Given the description of an element on the screen output the (x, y) to click on. 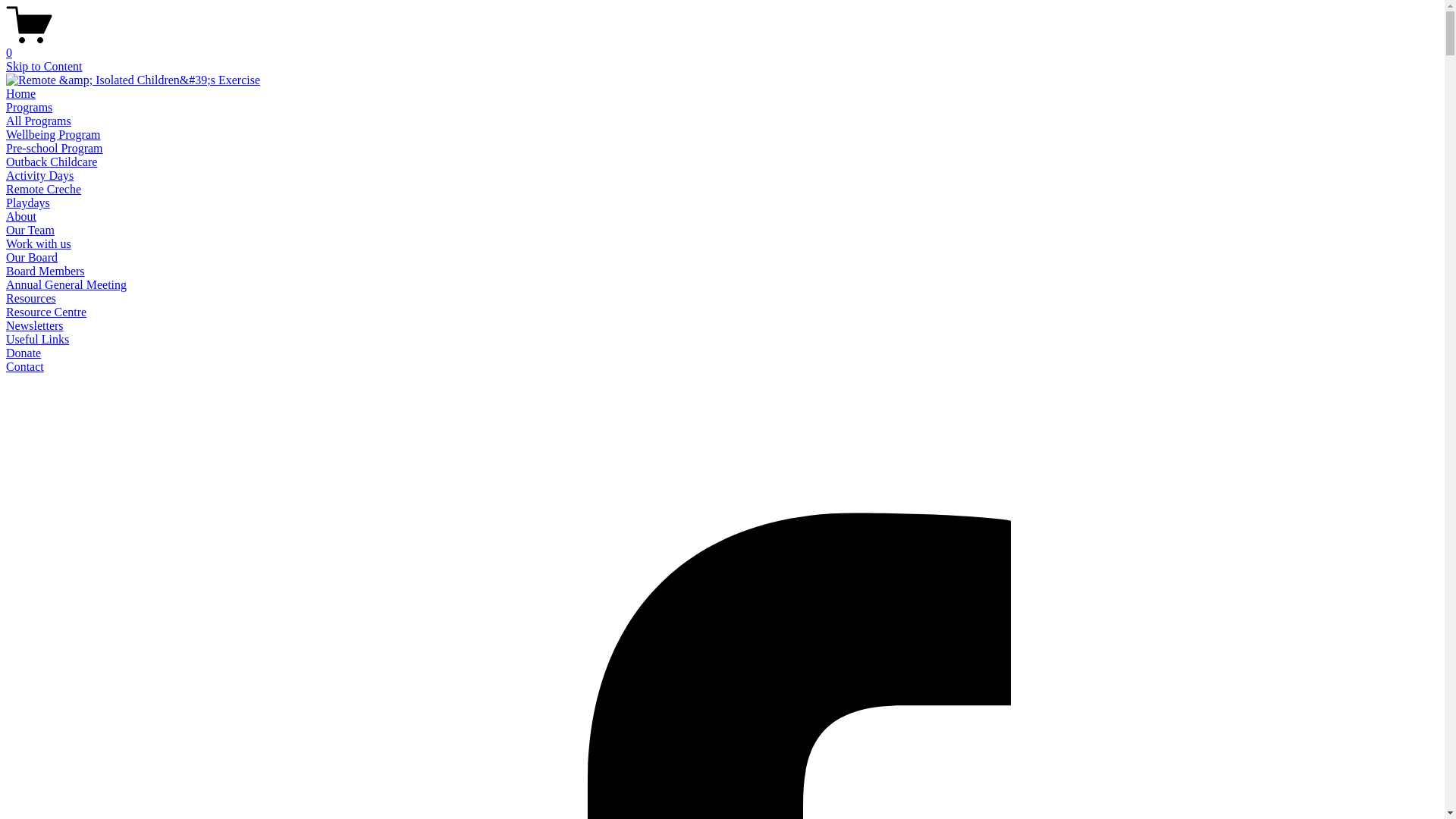
Skip to Content Element type: text (43, 65)
0 Element type: text (722, 45)
Annual General Meeting Element type: text (66, 284)
Contact Element type: text (24, 366)
Our Team Element type: text (30, 229)
Useful Links Element type: text (37, 338)
Programs Element type: text (29, 106)
About Element type: text (21, 216)
Activity Days Element type: text (39, 175)
Playdays Element type: text (28, 202)
Our Board Element type: text (31, 257)
Pre-school Program Element type: text (54, 147)
All Programs Element type: text (38, 120)
Outback Childcare Element type: text (51, 161)
Resource Centre Element type: text (46, 311)
Work with us Element type: text (38, 243)
Newsletters Element type: text (34, 325)
Home Element type: text (20, 93)
Donate Element type: text (23, 352)
Board Members Element type: text (45, 270)
Remote Creche Element type: text (43, 188)
Resources Element type: text (31, 297)
Wellbeing Program Element type: text (53, 134)
